Given the description of an element on the screen output the (x, y) to click on. 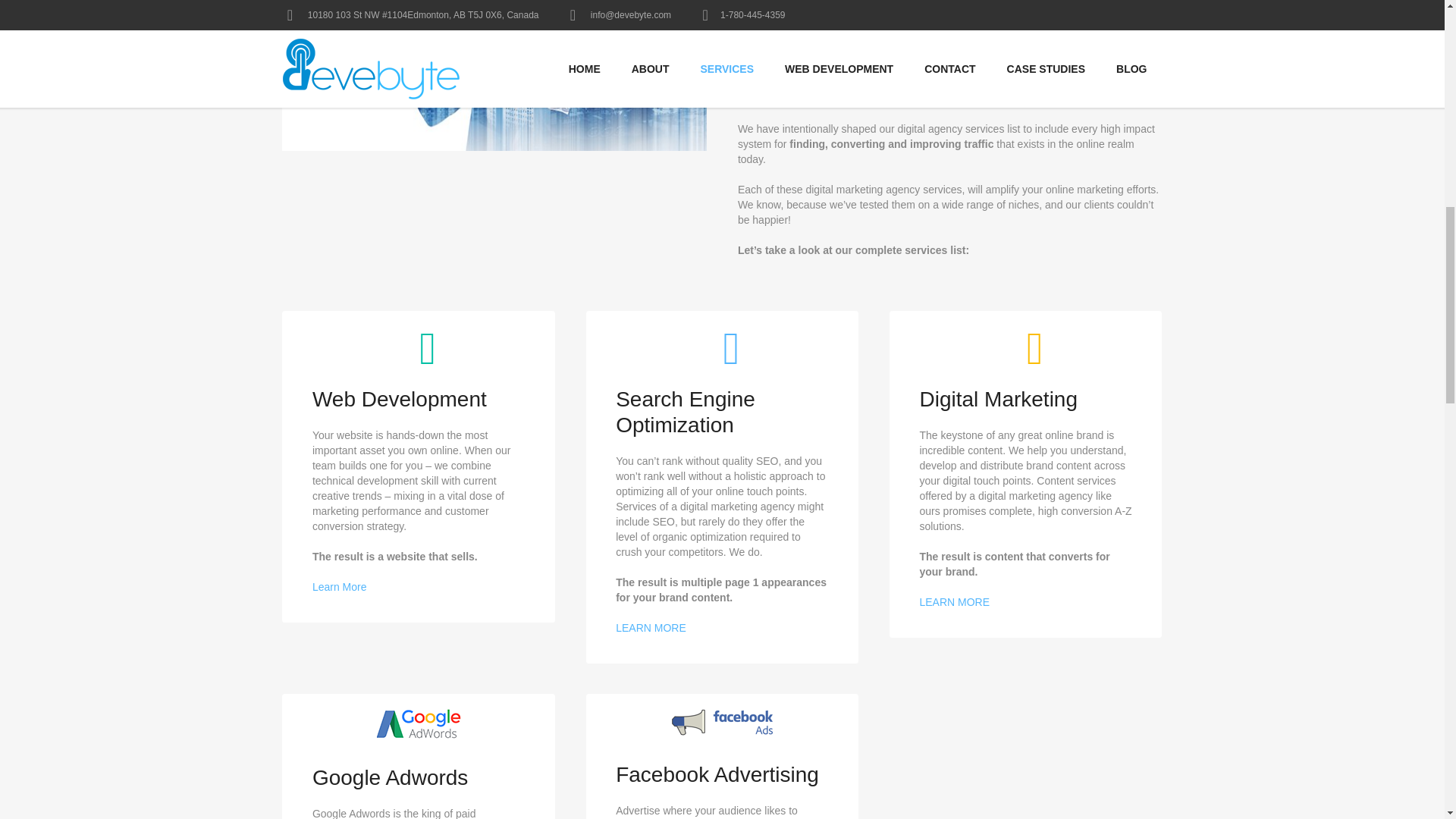
LEARN MORE (954, 602)
LEARN MORE (650, 627)
Learn More (339, 586)
